Given the description of an element on the screen output the (x, y) to click on. 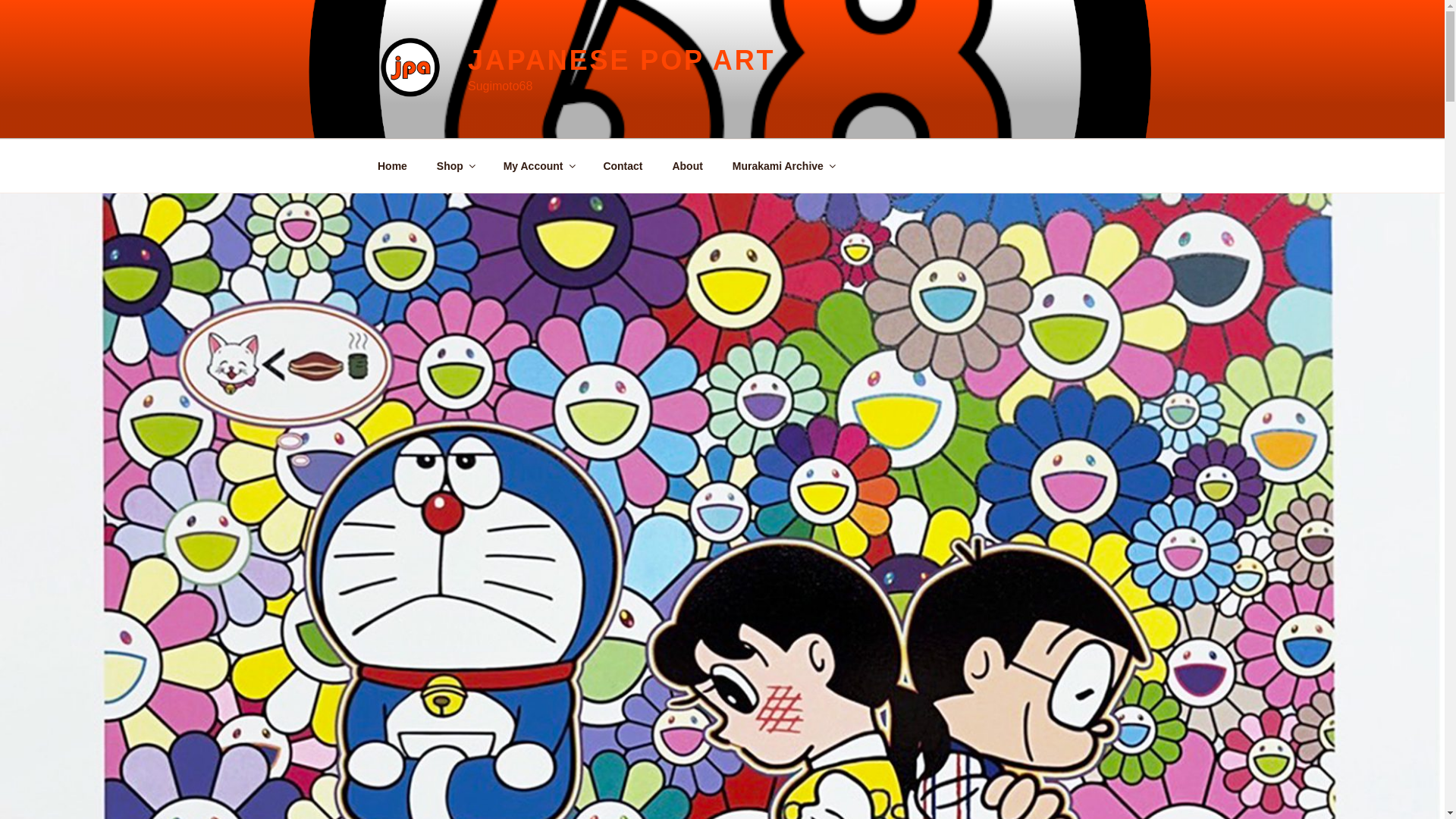
Murakami Archive (783, 165)
Home (392, 165)
My Account (537, 165)
About (687, 165)
Contact (622, 165)
JAPANESE POP ART (621, 60)
Shop (454, 165)
